Given the description of an element on the screen output the (x, y) to click on. 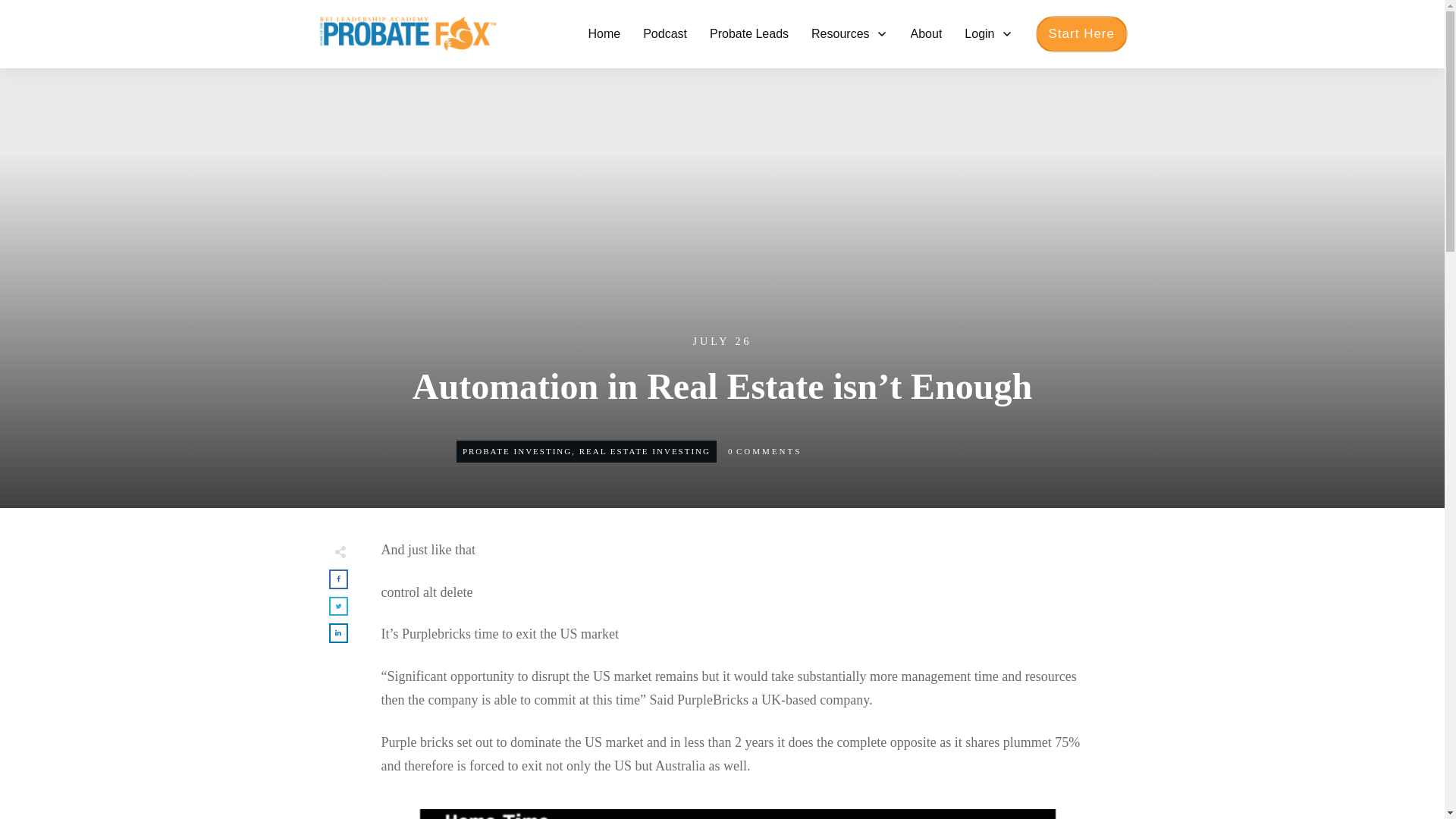
Real Estate Investing (644, 450)
Probate Investing (517, 450)
Resources (848, 33)
Probate Leads (749, 33)
REAL ESTATE INVESTING (644, 450)
Podcast (665, 33)
PROBATE INVESTING (517, 450)
Start Here (1081, 33)
About (926, 33)
Home (604, 33)
